Given the description of an element on the screen output the (x, y) to click on. 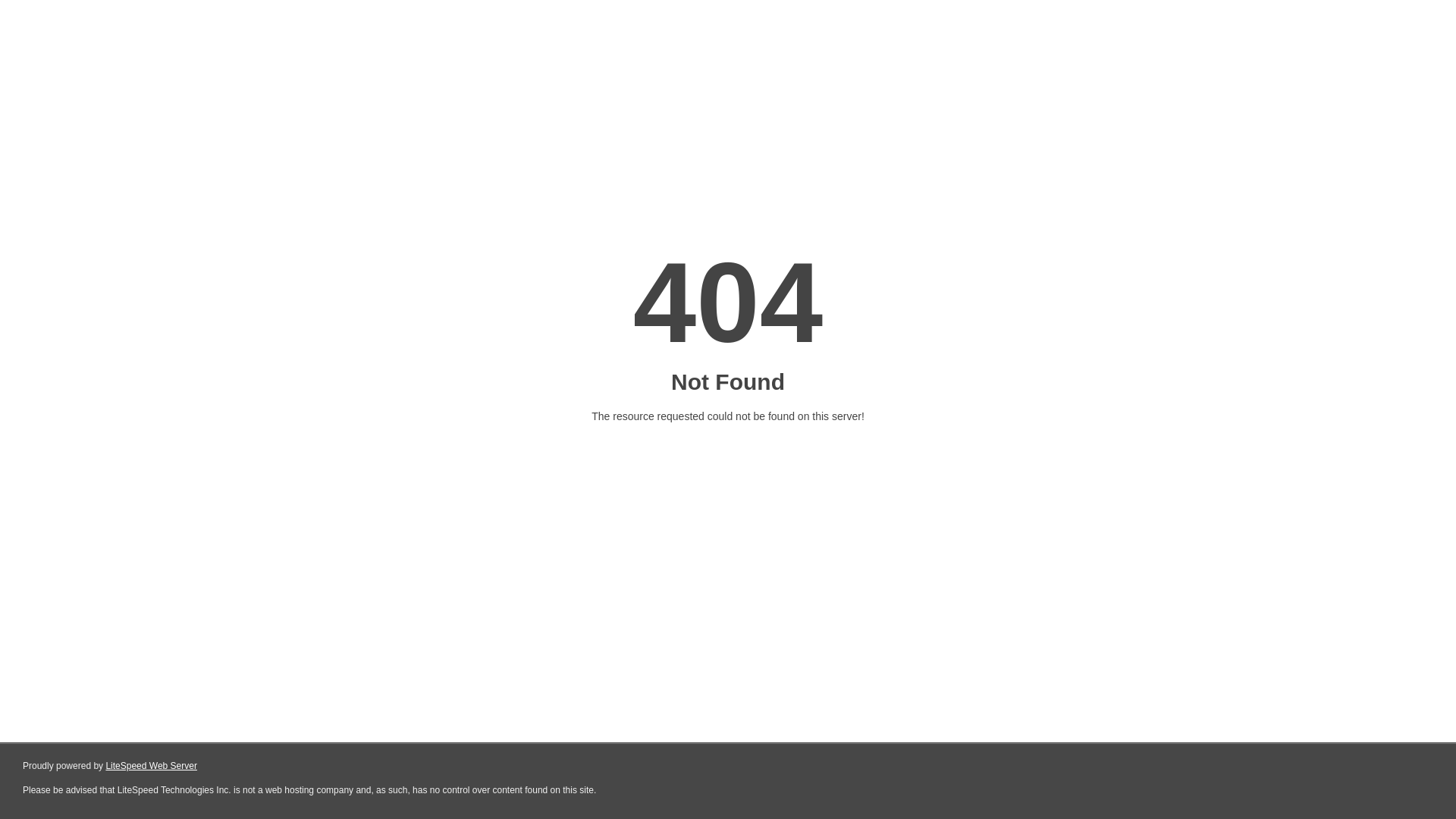
LiteSpeed Web Server Element type: text (151, 765)
